Given the description of an element on the screen output the (x, y) to click on. 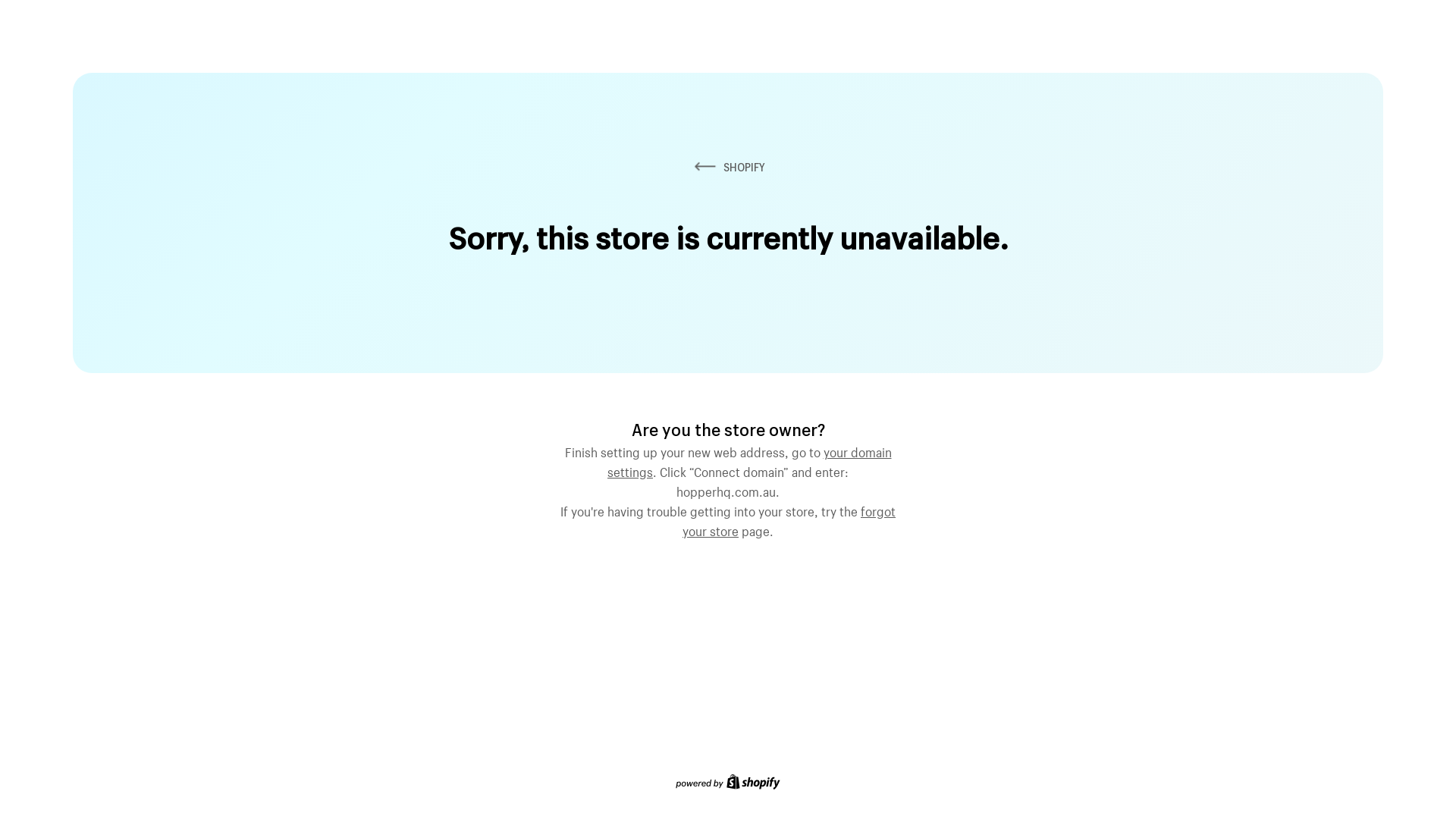
SHOPIFY Element type: text (727, 167)
forgot your store Element type: text (788, 519)
your domain settings Element type: text (749, 460)
